Given the description of an element on the screen output the (x, y) to click on. 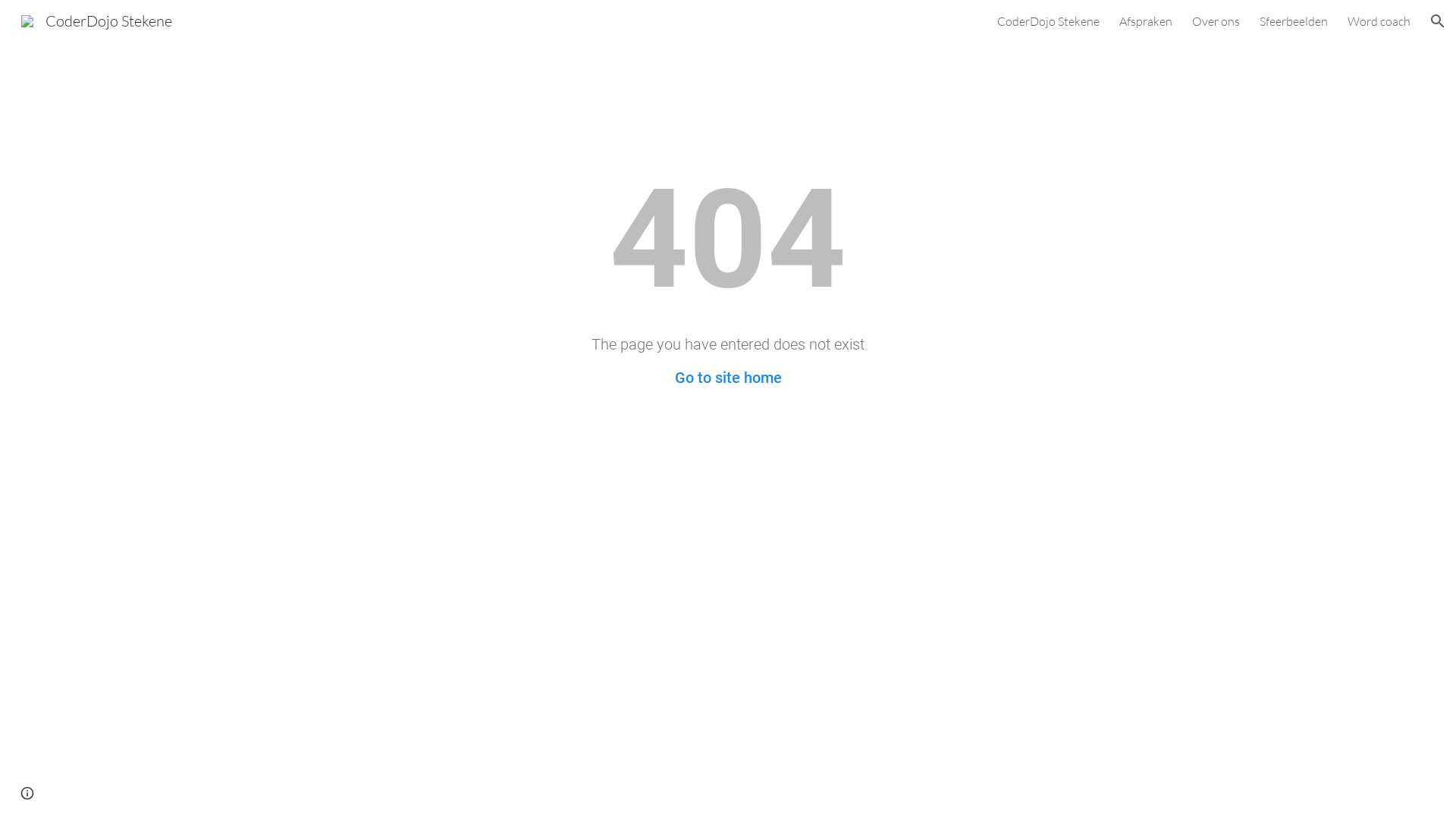
CoderDojo Stekene Element type: text (96, 18)
Go to site home Element type: text (727, 377)
Word coach Element type: text (1378, 20)
Over ons Element type: text (1215, 20)
CoderDojo Stekene Element type: text (1048, 20)
Afspraken Element type: text (1145, 20)
Sfeerbeelden Element type: text (1293, 20)
